Given the description of an element on the screen output the (x, y) to click on. 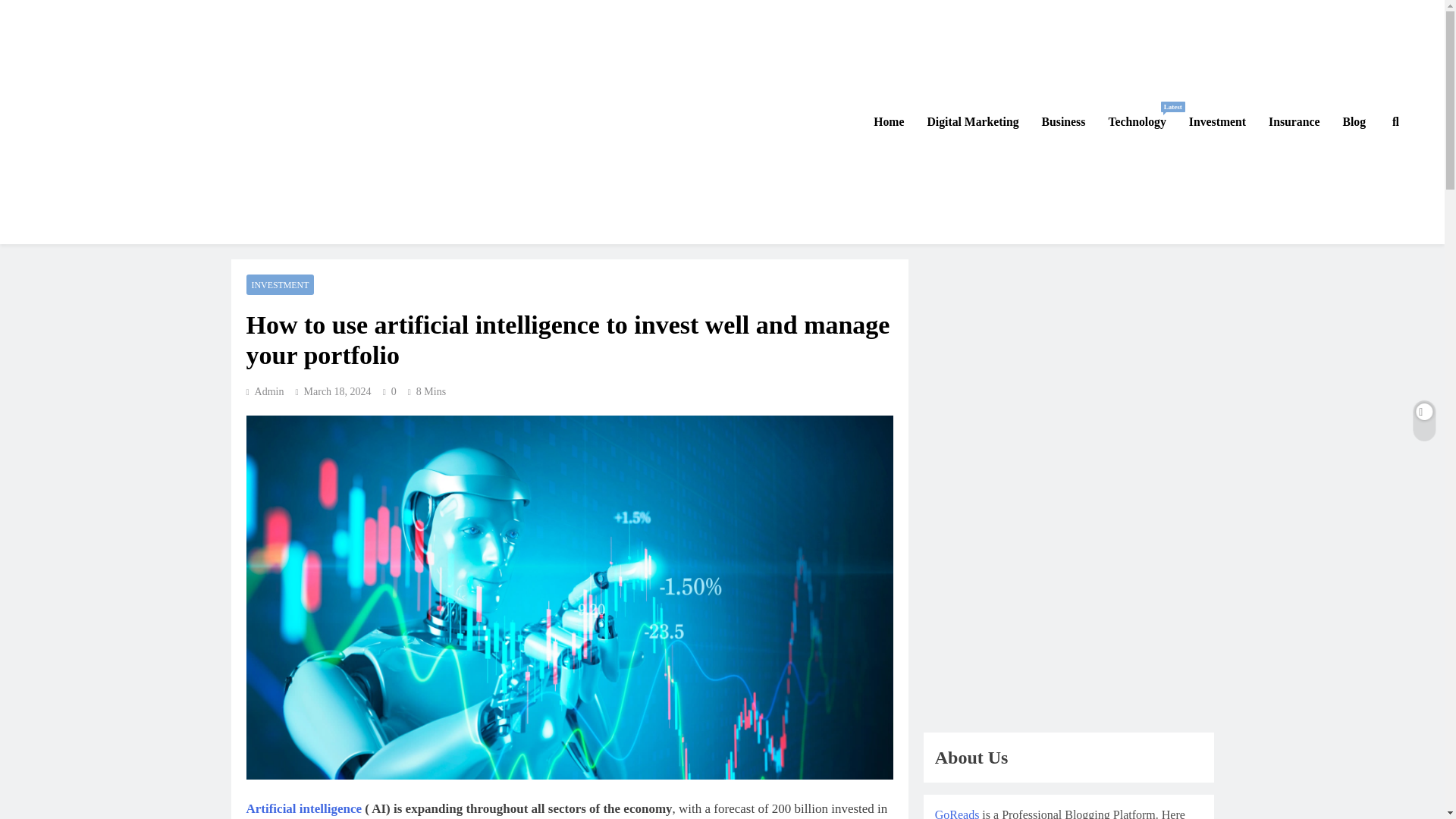
Insurance (1293, 121)
GoReads (88, 245)
Artificial intelligence (1136, 121)
Digital Marketing (303, 808)
Home (972, 121)
Business (888, 121)
Admin (1063, 121)
INVESTMENT (264, 391)
Blog (280, 284)
Investment (1353, 121)
March 18, 2024 (1217, 121)
